Given the description of an element on the screen output the (x, y) to click on. 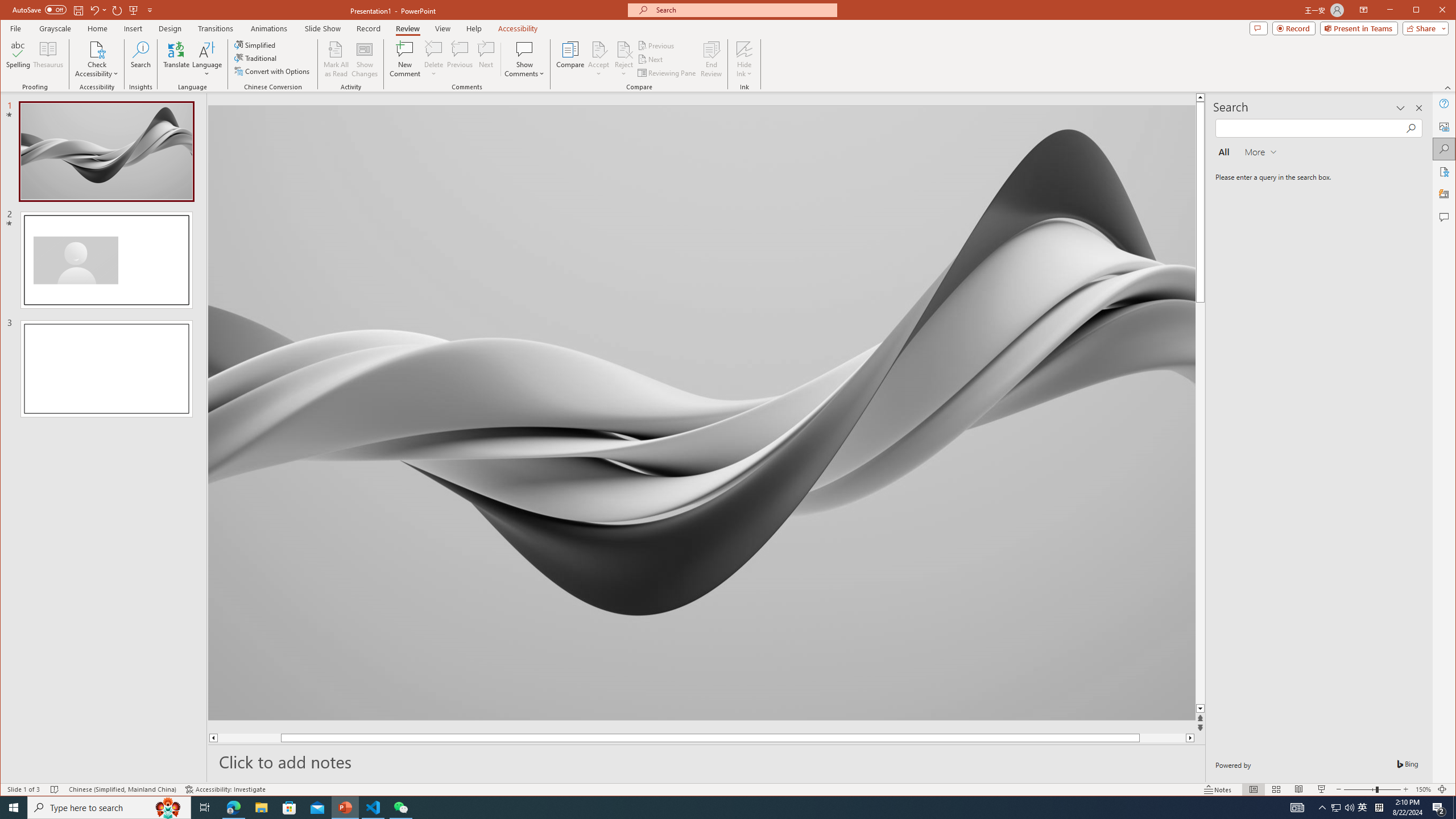
Reject Change (623, 48)
End Review (710, 59)
